Given the description of an element on the screen output the (x, y) to click on. 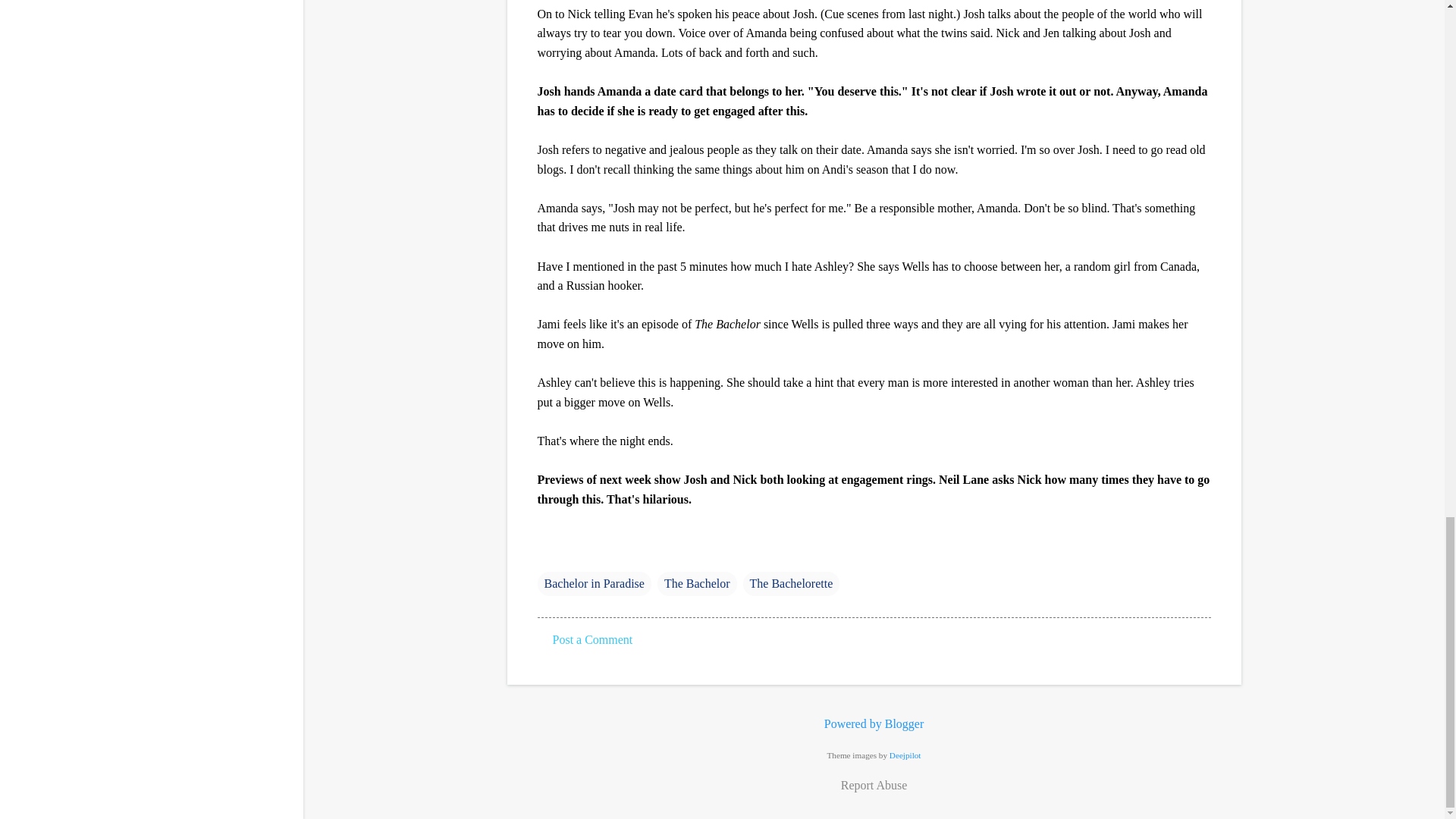
Email Post (545, 553)
Report Abuse (874, 785)
Powered by Blogger (874, 723)
The Bachelor (697, 583)
Post a Comment (591, 639)
Bachelor in Paradise (593, 583)
The Bachelorette (791, 583)
Deejpilot (905, 755)
